Given the description of an element on the screen output the (x, y) to click on. 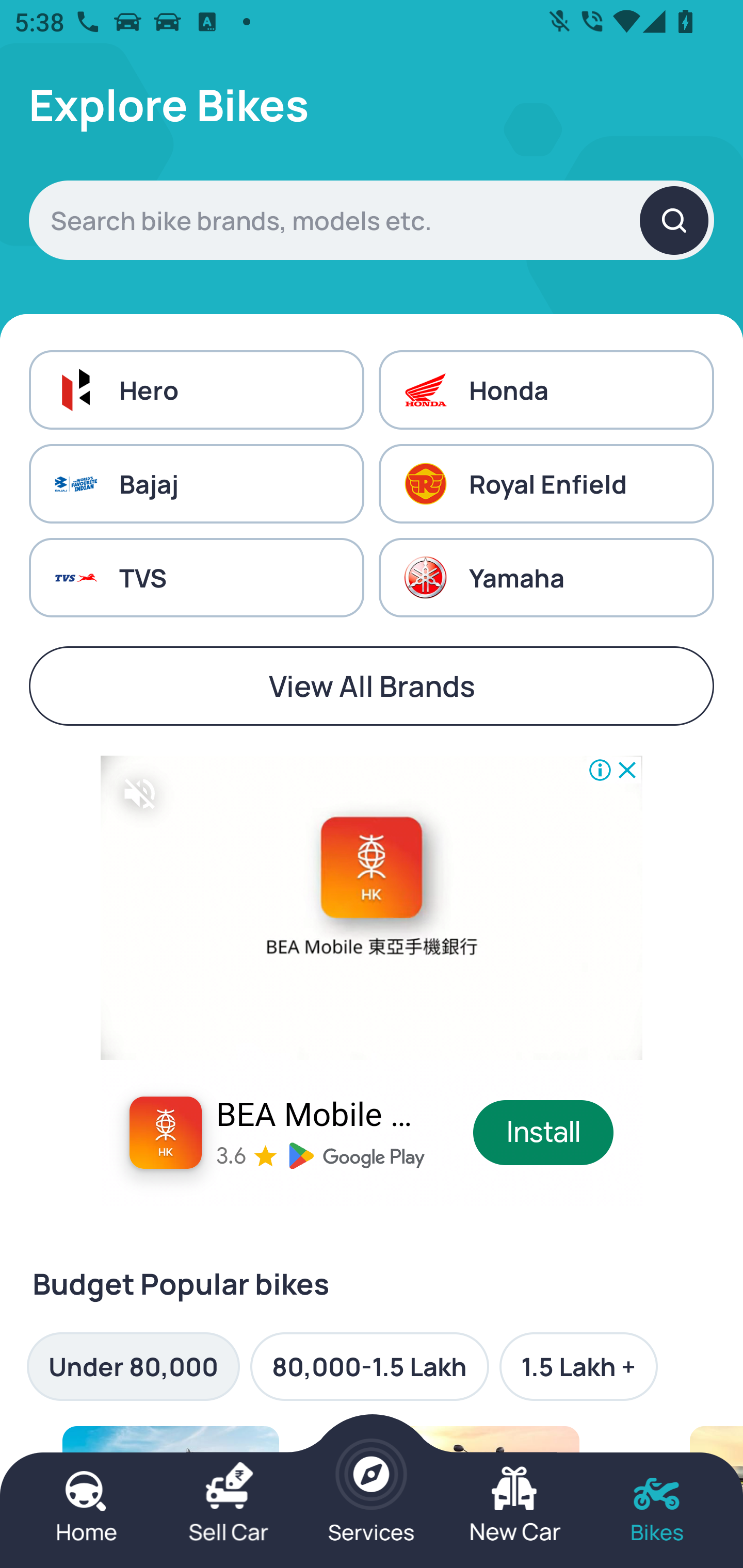
Search bike brands, models etc. (371, 220)
Hero (196, 389)
Honda (546, 389)
Bajaj (196, 483)
Royal Enfield (546, 483)
TVS (196, 577)
Yamaha (546, 577)
View All Brands (371, 685)
Install (543, 1132)
80,000-1.5 Lakh (369, 1366)
1.5 Lakh + (578, 1366)
